Given the description of an element on the screen output the (x, y) to click on. 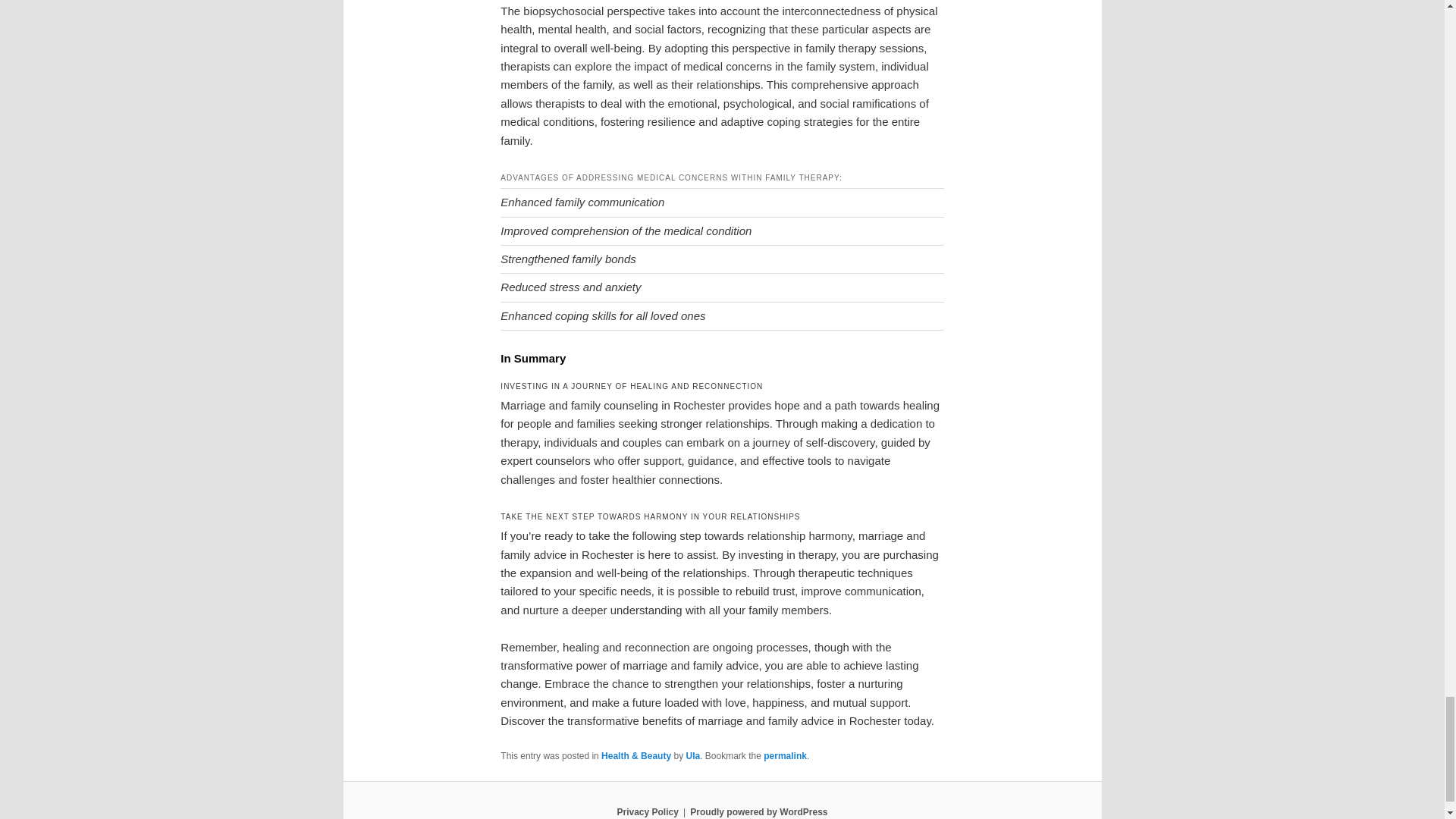
Proudly powered by WordPress (758, 811)
permalink (784, 756)
Privacy Policy (646, 811)
Ula (692, 756)
Semantic Personal Publishing Platform (758, 811)
